Given the description of an element on the screen output the (x, y) to click on. 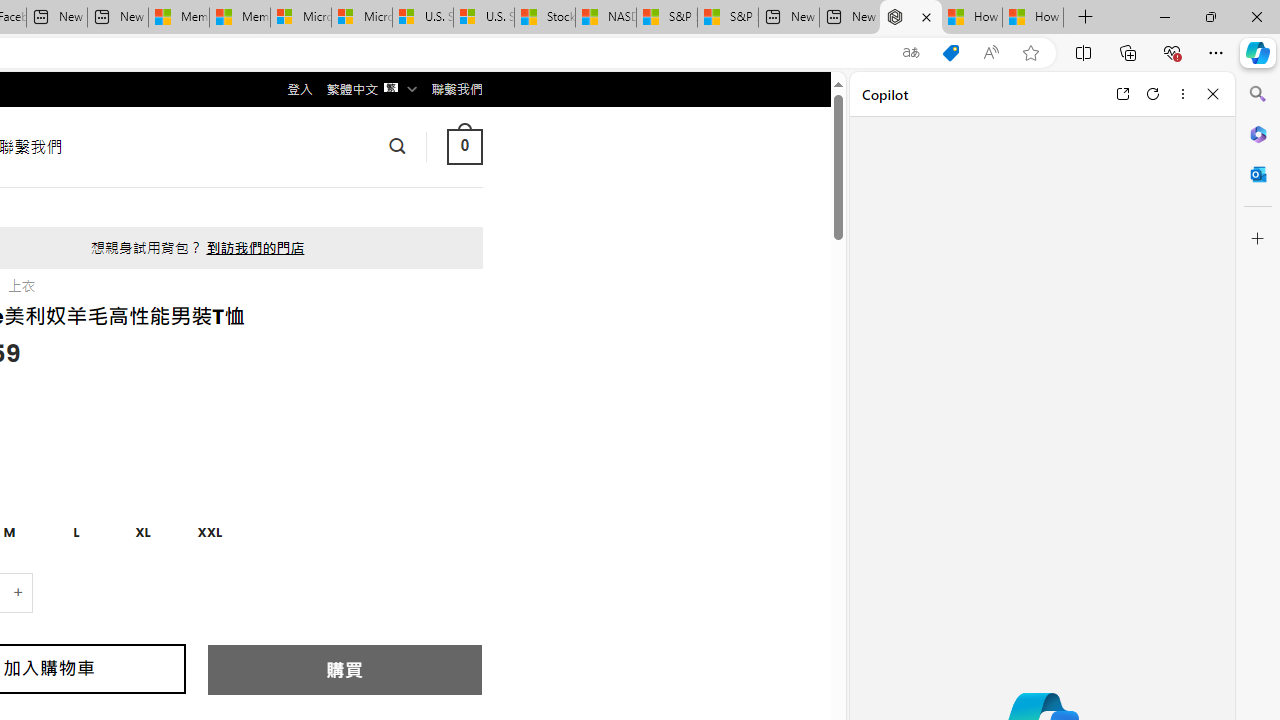
This site has coupons! Shopping in Microsoft Edge (950, 53)
+ (19, 591)
How to Use a Monitor With Your Closed Laptop (1033, 17)
More options (1182, 93)
Open link in new tab (1122, 93)
